Given the description of an element on the screen output the (x, y) to click on. 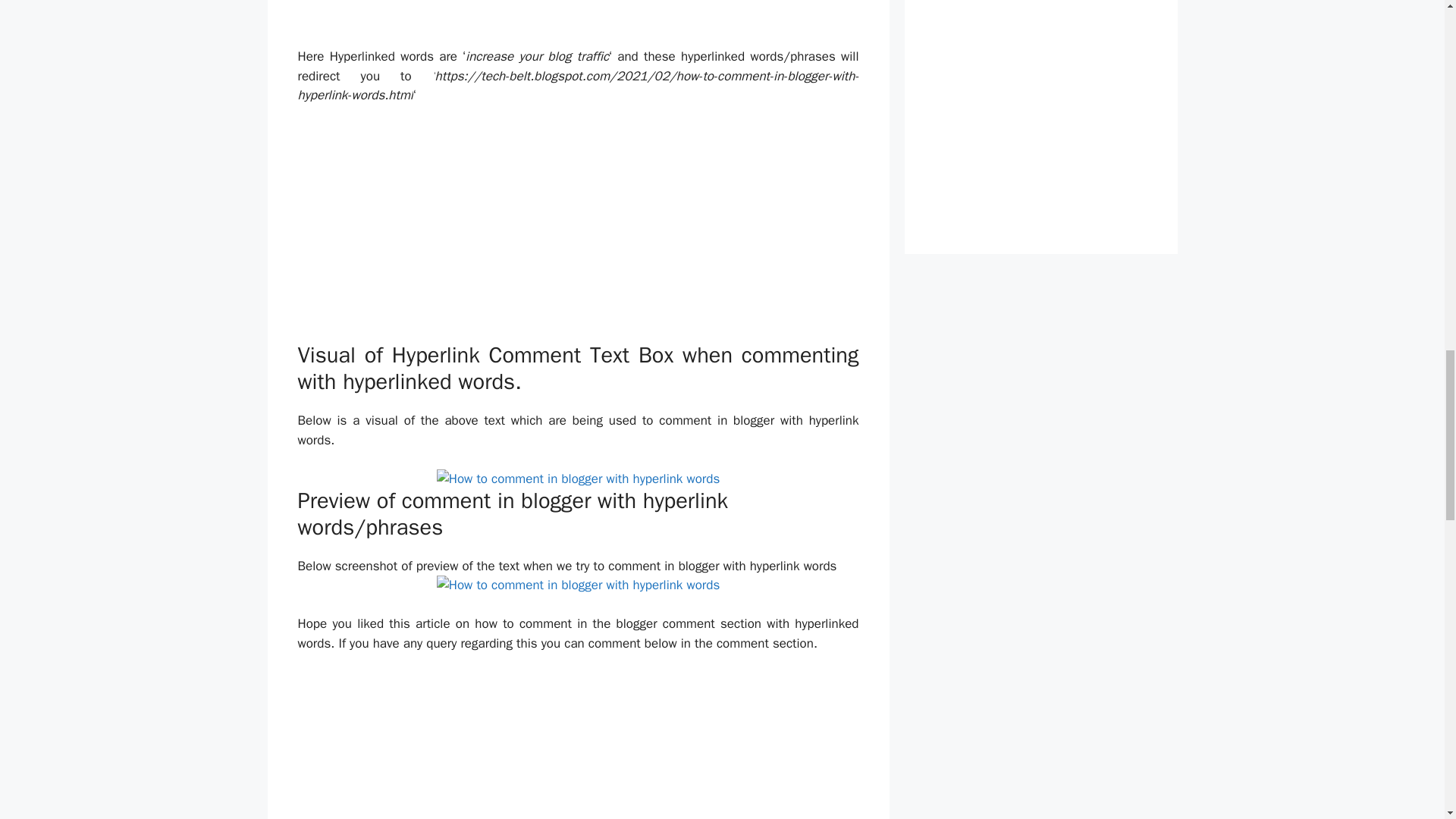
Advertisement (578, 230)
Advertisement (578, 20)
How to comment in blogger with hyperlink words (578, 478)
Advertisement (1040, 111)
How to comment in blogger with hyperlink words (578, 585)
Advertisement (578, 745)
